Given the description of an element on the screen output the (x, y) to click on. 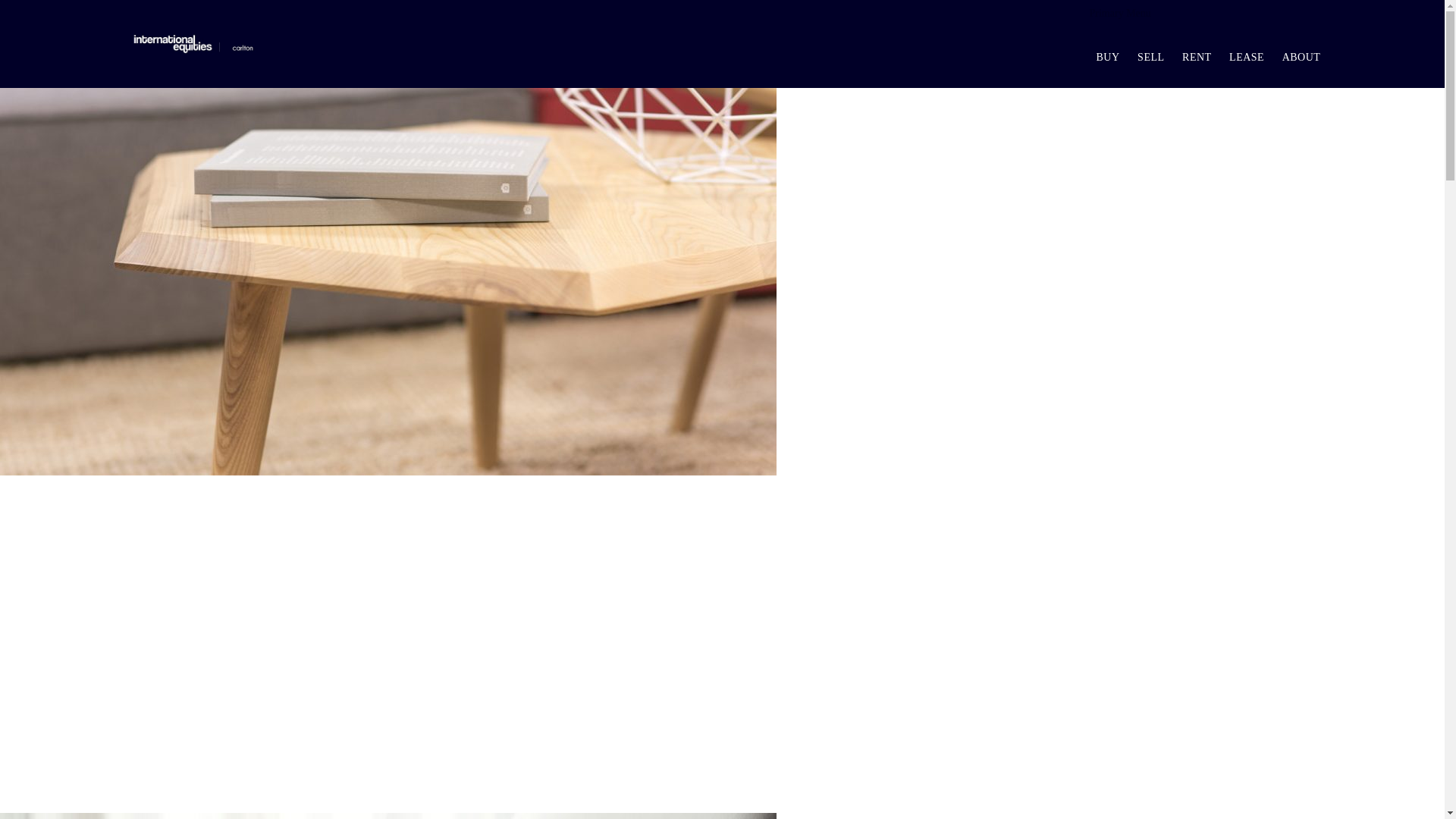
BUY Element type: text (1107, 57)
ABOUT Element type: text (1301, 57)
RENT Element type: text (1196, 57)
Primary Menu Element type: text (1120, 13)
LEASE Element type: text (1246, 57)
SELL Element type: text (1150, 57)
